Given the description of an element on the screen output the (x, y) to click on. 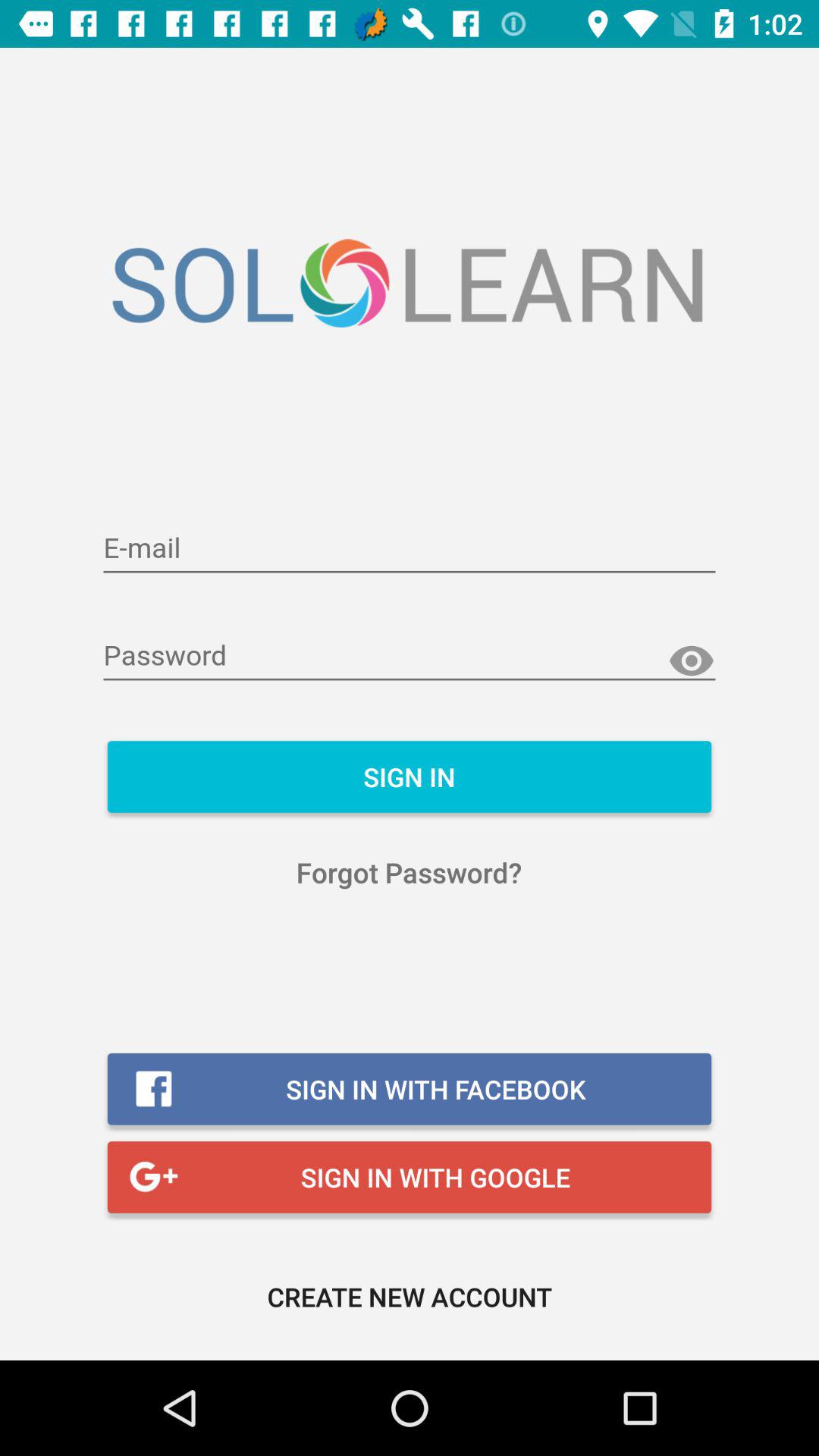
password field (409, 656)
